Given the description of an element on the screen output the (x, y) to click on. 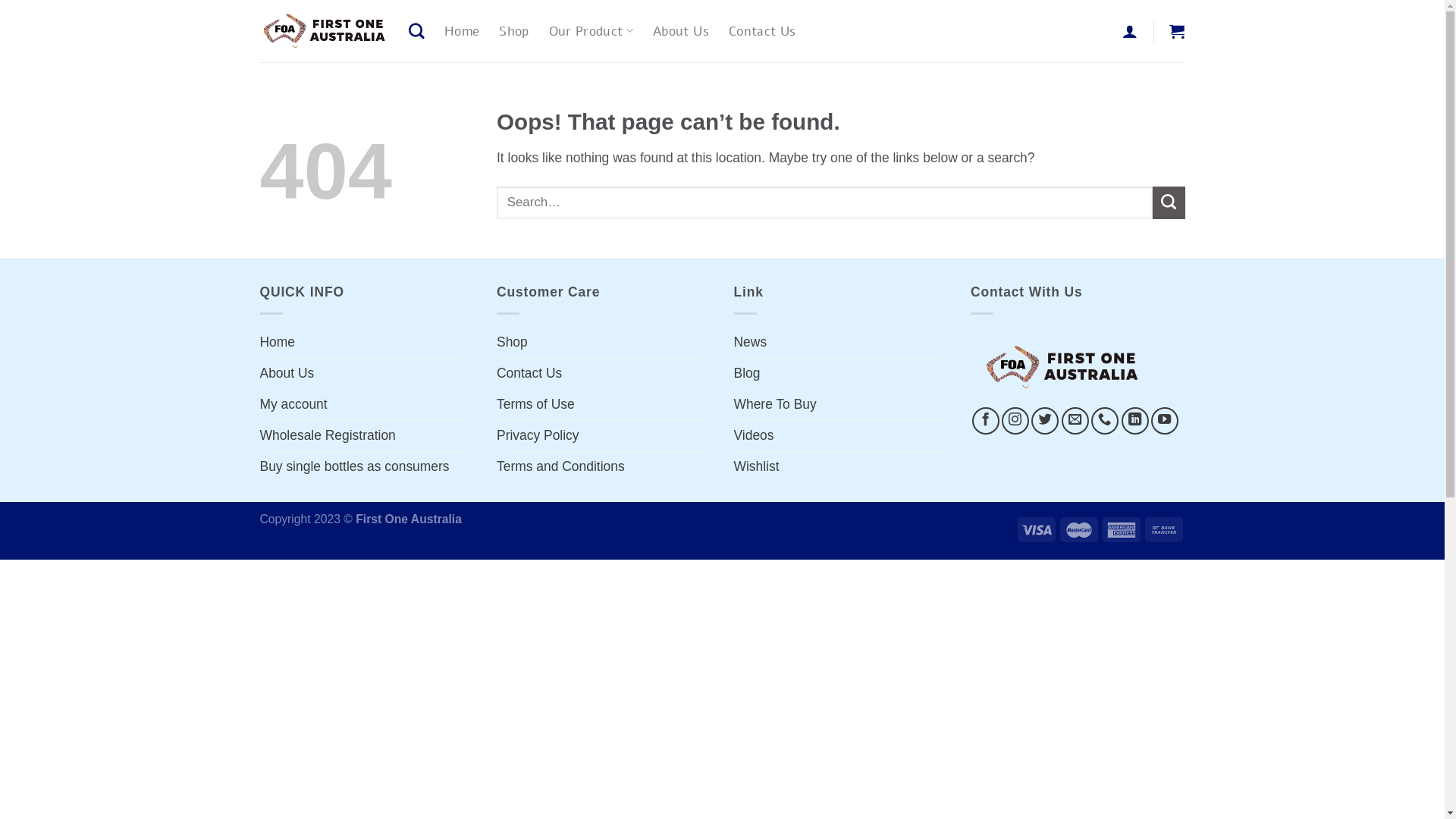
firstoneaustralia.com.au Element type: hover (322, 30)
Follow on YouTube Element type: hover (1164, 420)
Contact Us Element type: text (528, 373)
About Us Element type: text (680, 30)
Basket Element type: hover (1176, 30)
Shop Element type: text (511, 342)
Home Element type: text (461, 30)
Follow on Twitter Element type: hover (1044, 420)
Contact Us Element type: text (762, 30)
Home Element type: text (276, 342)
About Us Element type: text (286, 373)
Buy single bottles as consumers Element type: text (353, 466)
News Element type: text (750, 342)
Terms and Conditions Element type: text (560, 466)
Our Product Element type: text (591, 30)
Blog Element type: text (747, 373)
Follow on LinkedIn Element type: hover (1134, 420)
Videos Element type: text (754, 435)
Privacy Policy Element type: text (537, 435)
Call us Element type: hover (1104, 420)
Send us an email Element type: hover (1074, 420)
Wholesale Registration Element type: text (327, 435)
Terms of Use Element type: text (535, 404)
My account Element type: text (292, 404)
Follow on Instagram Element type: hover (1015, 420)
Where To Buy Element type: text (775, 404)
Shop Element type: text (513, 30)
Wishlist Element type: text (756, 466)
Follow on Facebook Element type: hover (985, 420)
